Given the description of an element on the screen output the (x, y) to click on. 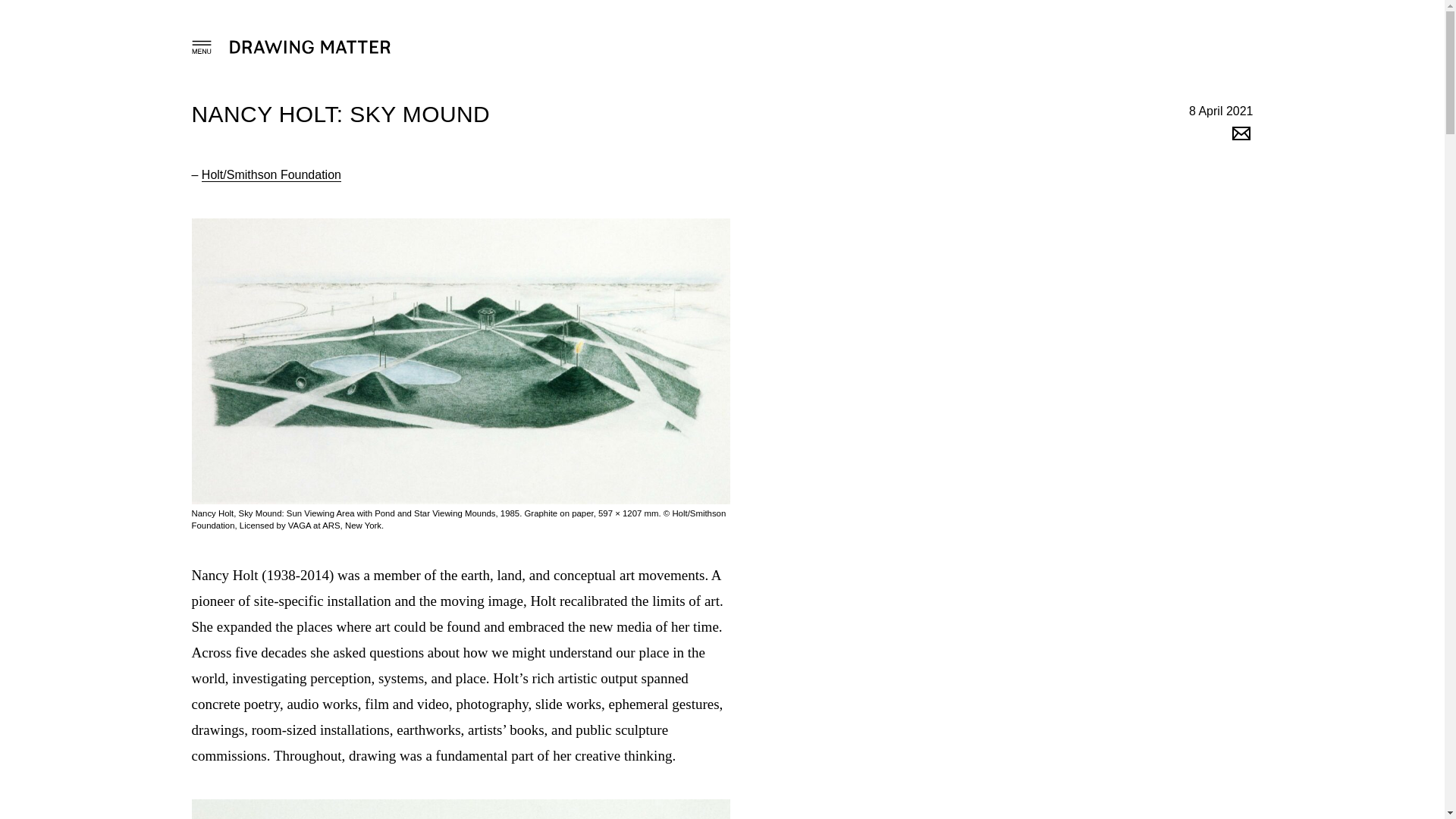
Share via Email (1241, 137)
